Given the description of an element on the screen output the (x, y) to click on. 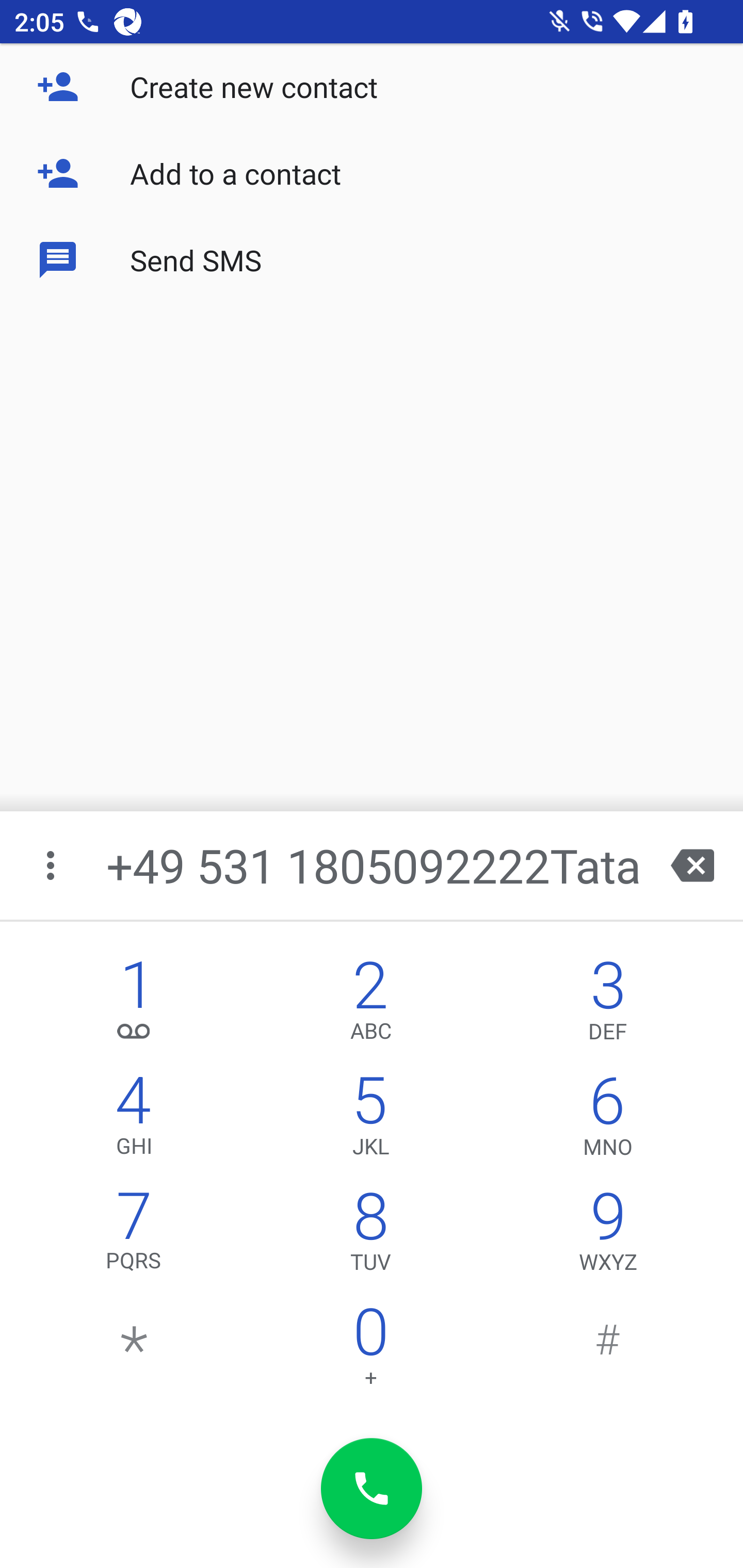
Create new contact (371, 86)
Add to a contact (371, 173)
Send SMS (371, 259)
+49 531 1805092222Tata (372, 865)
backspace (692, 865)
More options (52, 865)
1, 1 (133, 1005)
2,ABC 2 ABC (370, 1005)
3,DEF 3 DEF (607, 1005)
4,GHI 4 GHI (133, 1120)
5,JKL 5 JKL (370, 1120)
6,MNO 6 MNO (607, 1120)
7,PQRS 7 PQRS (133, 1235)
8,TUV 8 TUV (370, 1235)
9,WXYZ 9 WXYZ (607, 1235)
* (133, 1351)
0 0 + (370, 1351)
# (607, 1351)
dial (371, 1488)
